Given the description of an element on the screen output the (x, y) to click on. 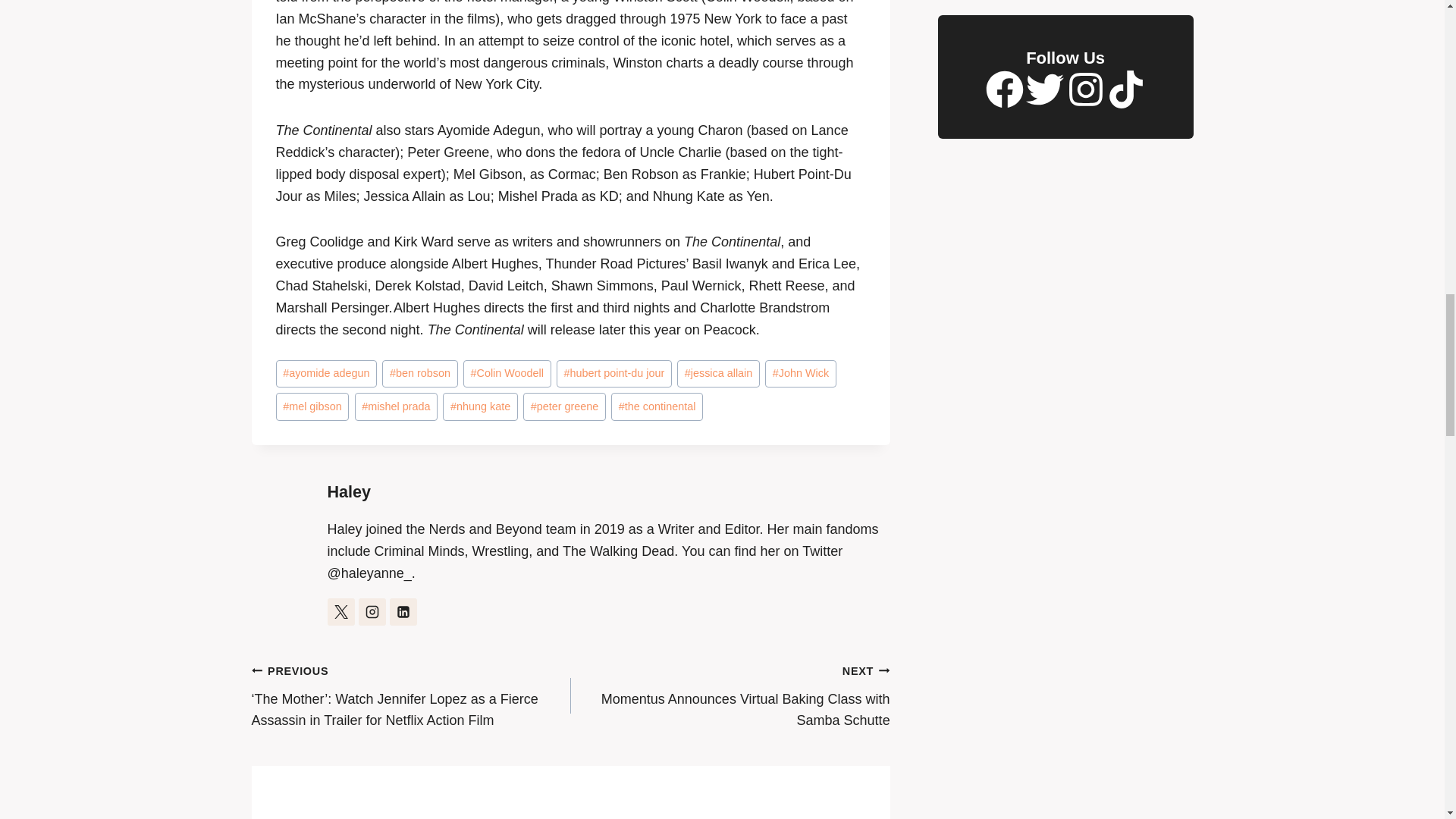
ayomide adegun (326, 374)
peter greene (563, 406)
nhung kate (479, 406)
mishel prada (396, 406)
mel gibson (312, 406)
John Wick (800, 374)
jessica allain (718, 374)
Posts by Haley (349, 491)
the continental (657, 406)
Follow Haley on X formerly Twitter (341, 611)
